Given the description of an element on the screen output the (x, y) to click on. 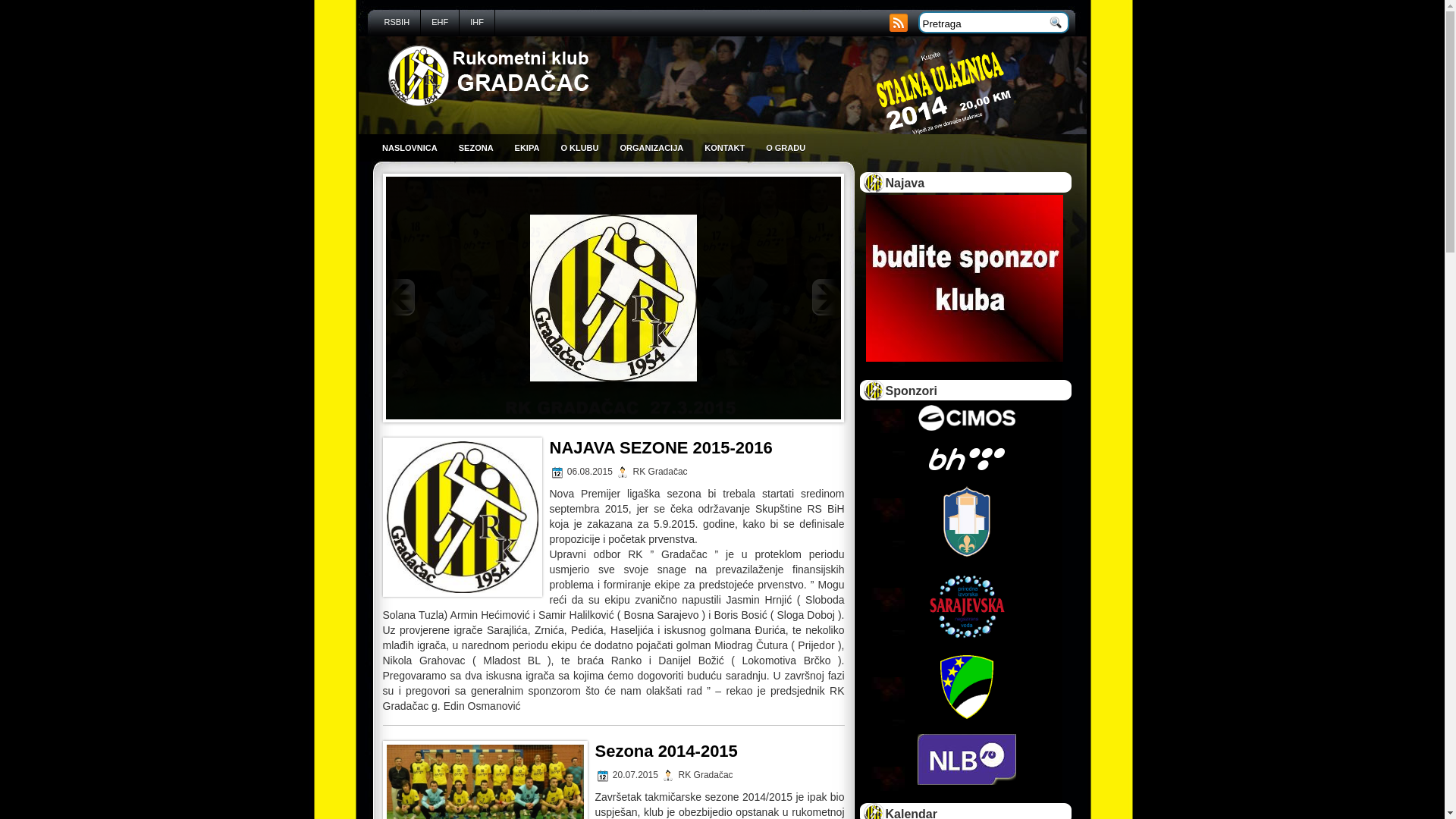
BH Telecom Element type: hover (966, 458)
O GRADU Element type: text (785, 147)
NAJAVA SEZONE 2015-2016 Element type: hover (612, 296)
RSBIH Element type: text (396, 22)
Sezona 2014-2015 Element type: text (665, 750)
IHF Element type: text (477, 22)
1 Element type: hover (964, 277)
O KLUBU Element type: text (578, 147)
SEZONA Element type: text (476, 147)
Vlada TK Element type: hover (966, 686)
NAJAVA SEZONE 2015-2016 Element type: text (660, 447)
KONTAKT Element type: text (724, 147)
Sarajevska pivara Element type: hover (966, 605)
EKIPA Element type: text (527, 147)
Cimos TMD Ai Element type: hover (966, 417)
ORGANIZACIJA Element type: text (651, 147)
EHF Element type: text (439, 22)
NASLOVNICA Element type: text (409, 147)
